Given the description of an element on the screen output the (x, y) to click on. 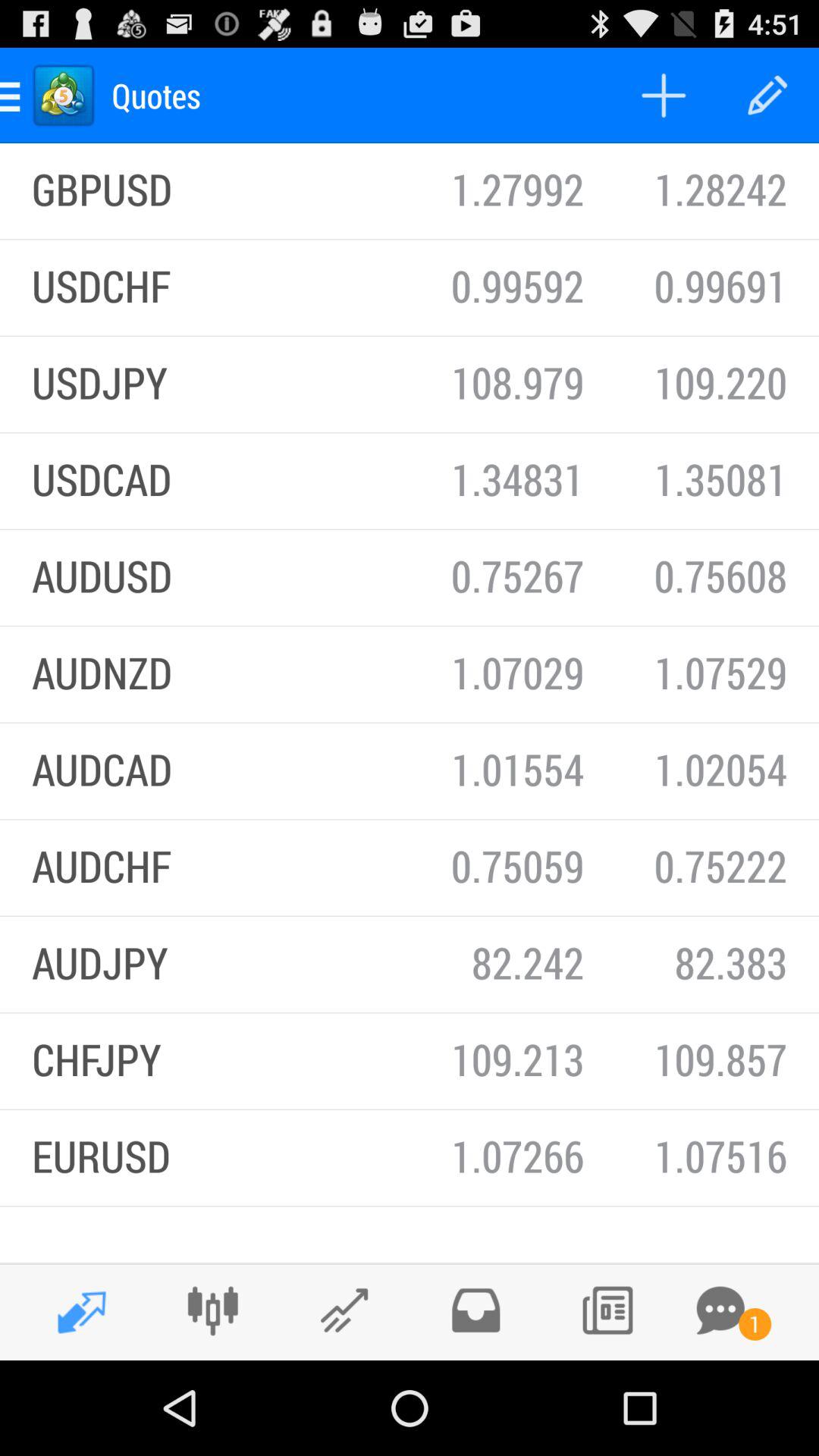
open messages (720, 1310)
